Given the description of an element on the screen output the (x, y) to click on. 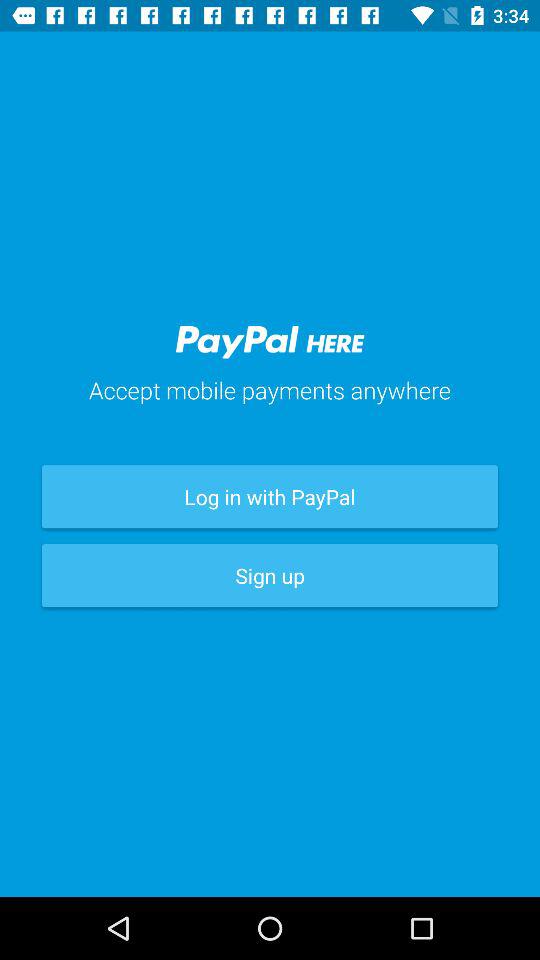
flip to log in with (269, 496)
